Given the description of an element on the screen output the (x, y) to click on. 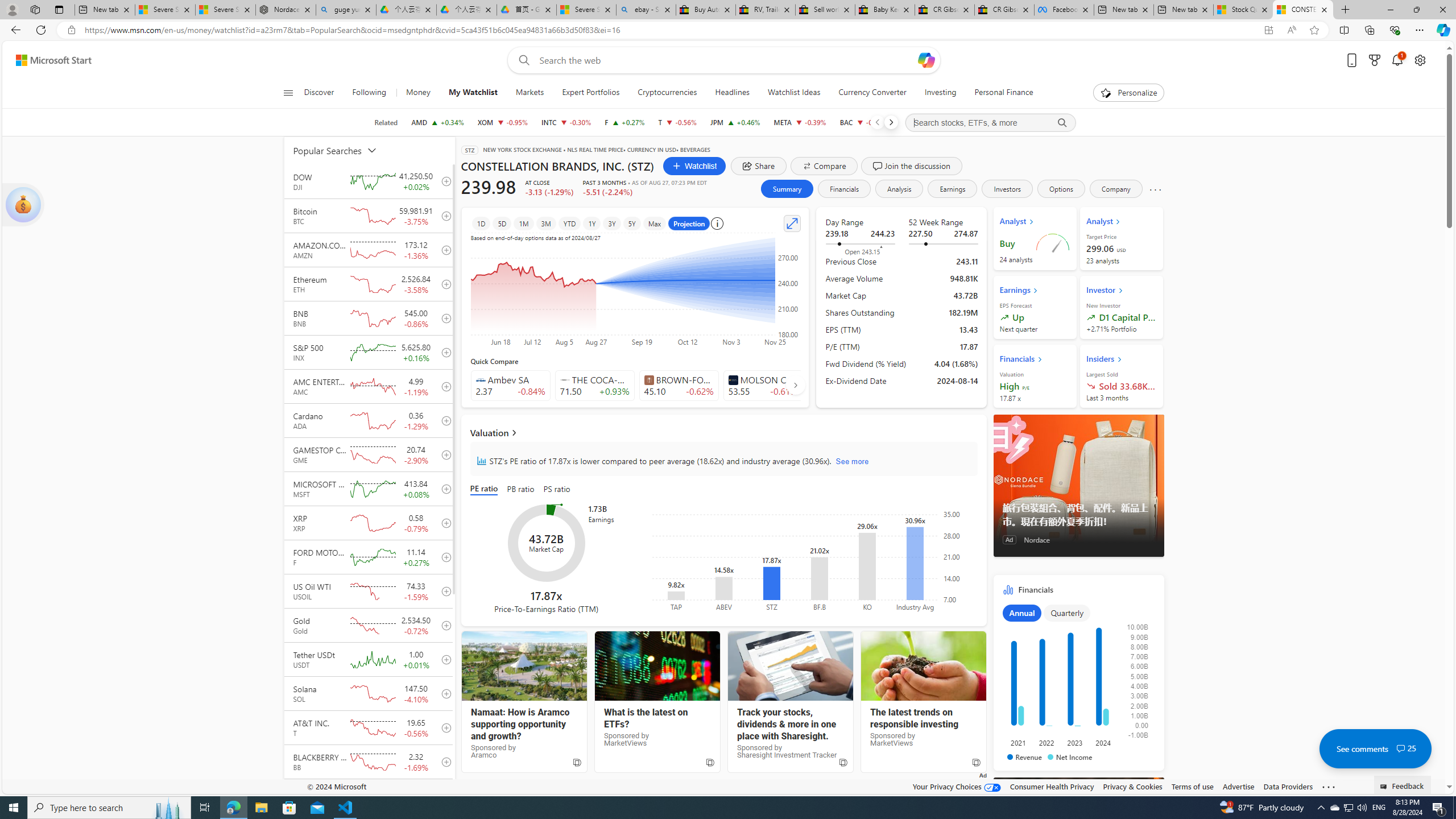
YTD (568, 223)
META Meta Platforms, Inc. decrease 519.10 -2.02 -0.39% (799, 122)
Earnings (951, 188)
Consumer Health Privacy (1051, 786)
Valuation (723, 432)
BAC BANK OF AMERICA CORPORATION decrease 39.67 -0.25 -0.63% (862, 122)
1Y (591, 223)
JPM JPMORGAN CHASE & CO. increase 220.18 +1.01 +0.46% (735, 122)
Class: chartOuter-DS-EntryPoint1-1 (1075, 682)
